Given the description of an element on the screen output the (x, y) to click on. 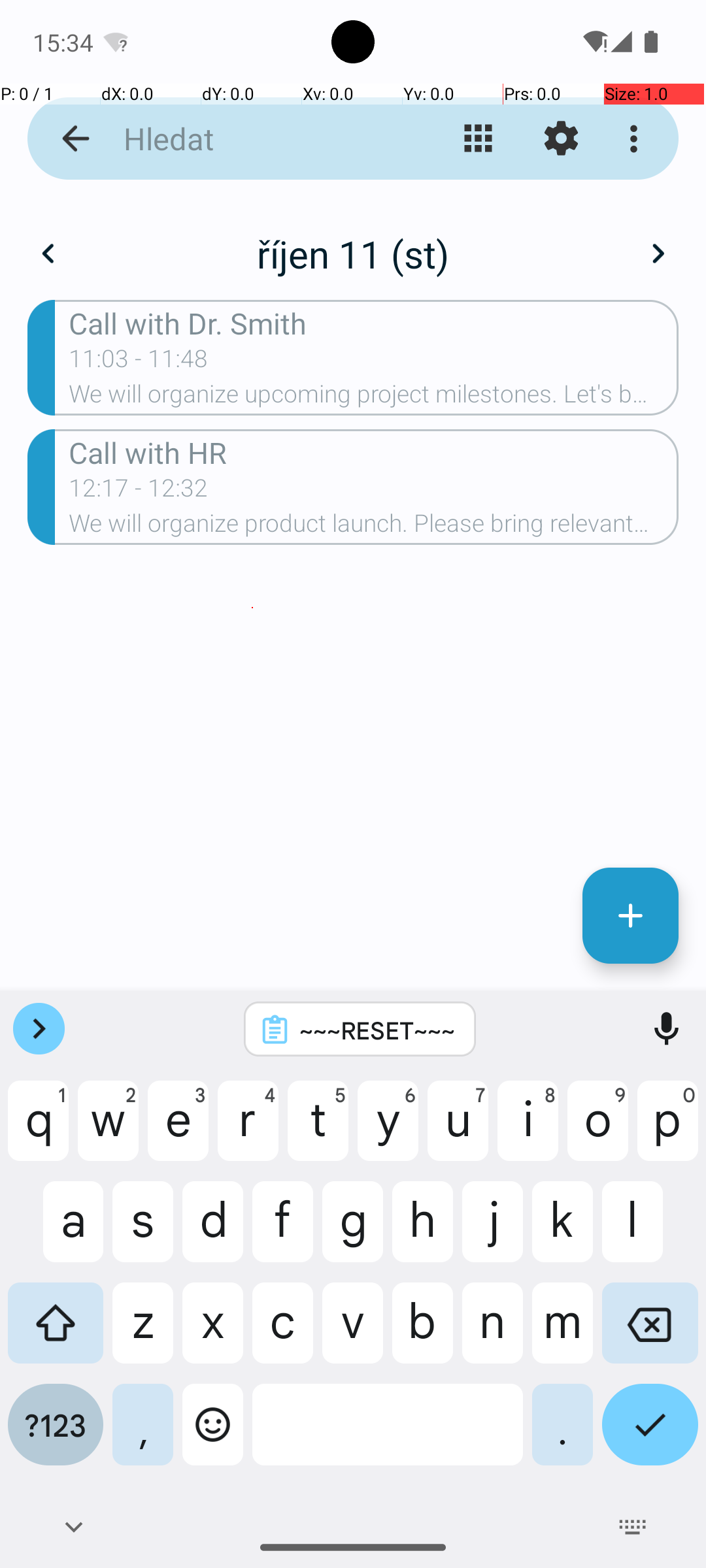
říjen 11 (st) Element type: android.widget.TextView (352, 253)
11:03 - 11:48 Element type: android.widget.TextView (137, 362)
We will organize upcoming project milestones. Let's be punctual. Element type: android.widget.TextView (373, 397)
12:17 - 12:32 Element type: android.widget.TextView (137, 491)
We will organize product launch. Please bring relevant documents. Element type: android.widget.TextView (373, 526)
